Given the description of an element on the screen output the (x, y) to click on. 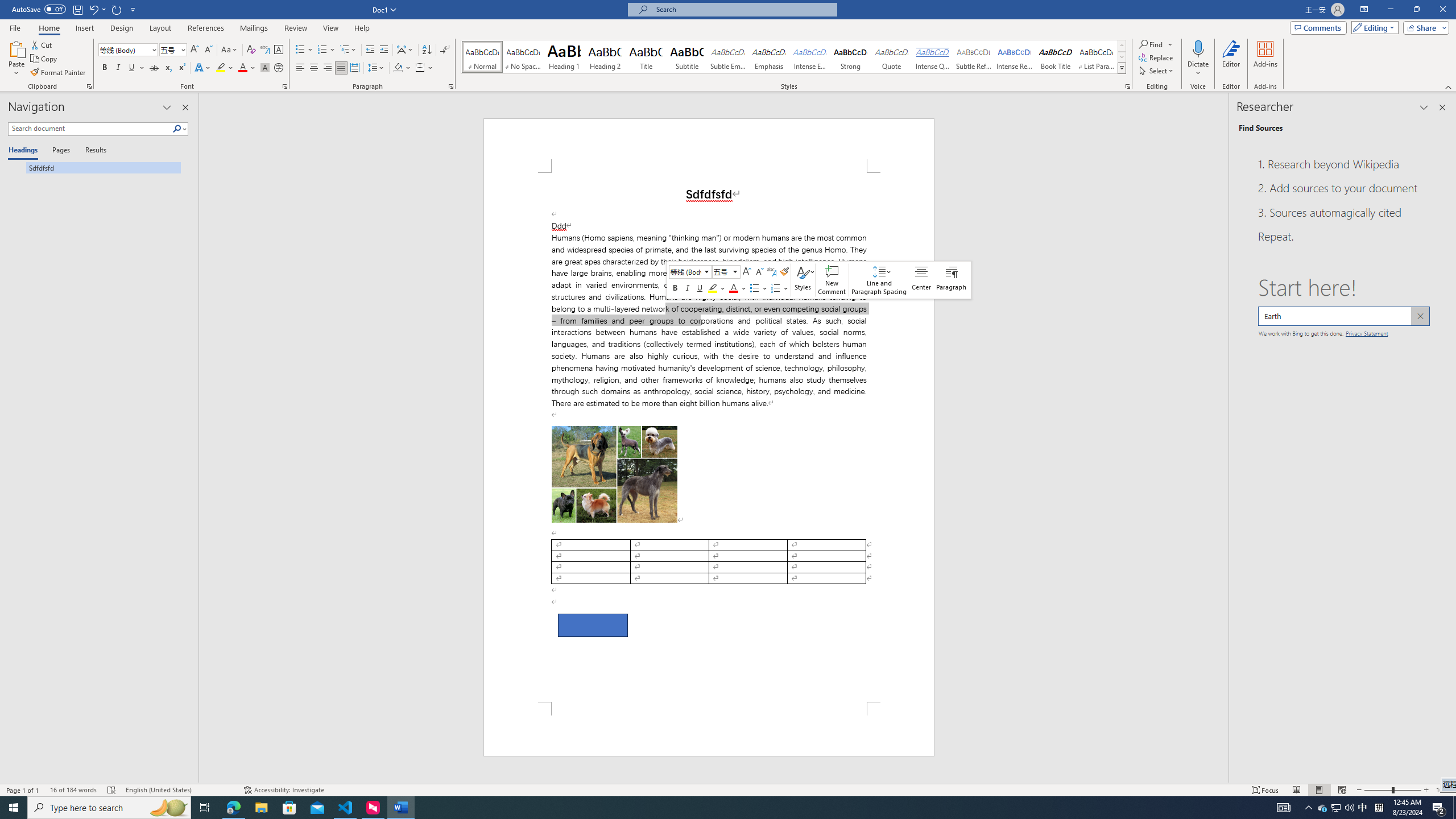
Subtitle (686, 56)
Zoom 100% (1443, 790)
